Given the description of an element on the screen output the (x, y) to click on. 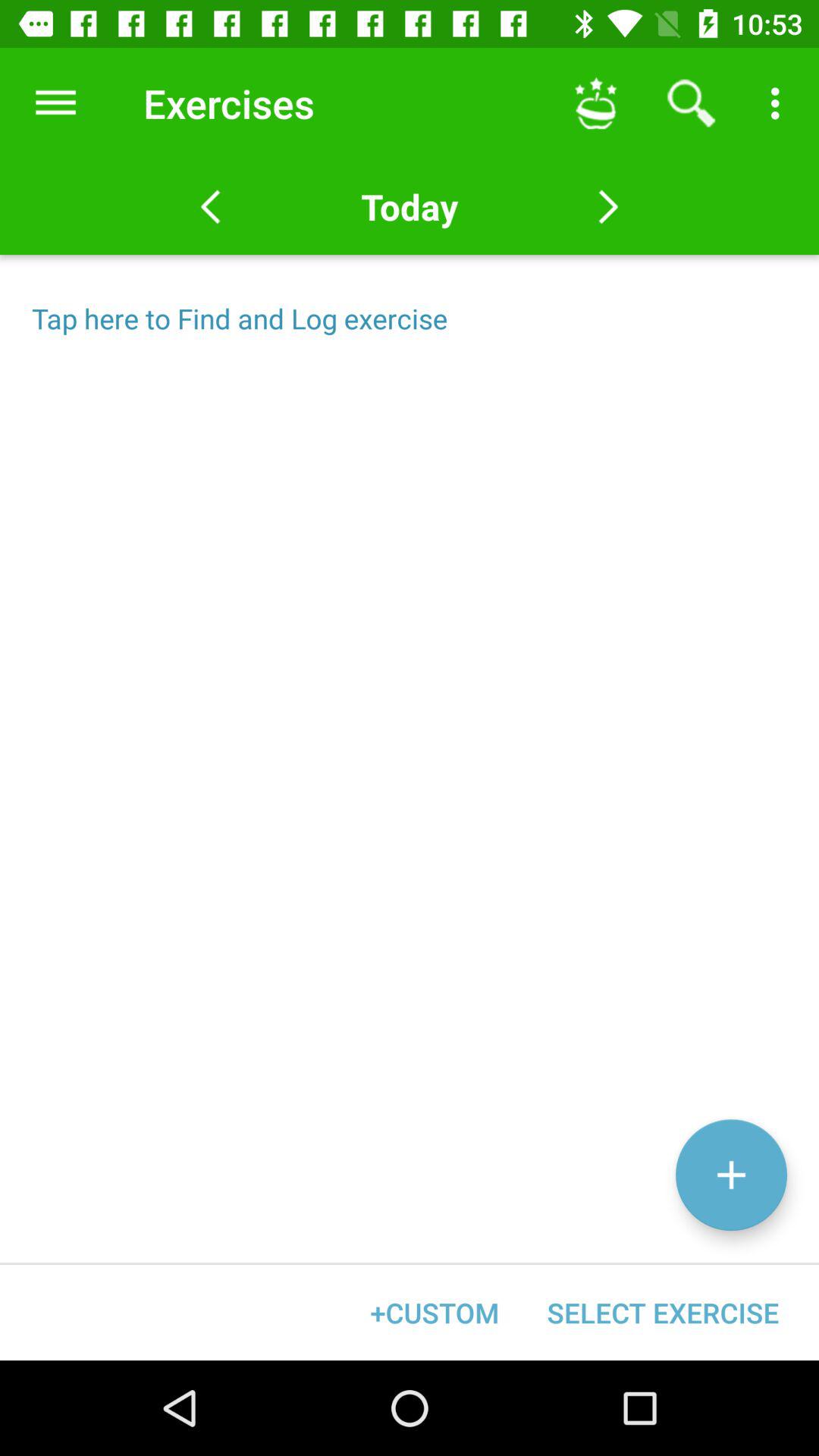
choose icon next to the +custom item (663, 1312)
